Given the description of an element on the screen output the (x, y) to click on. 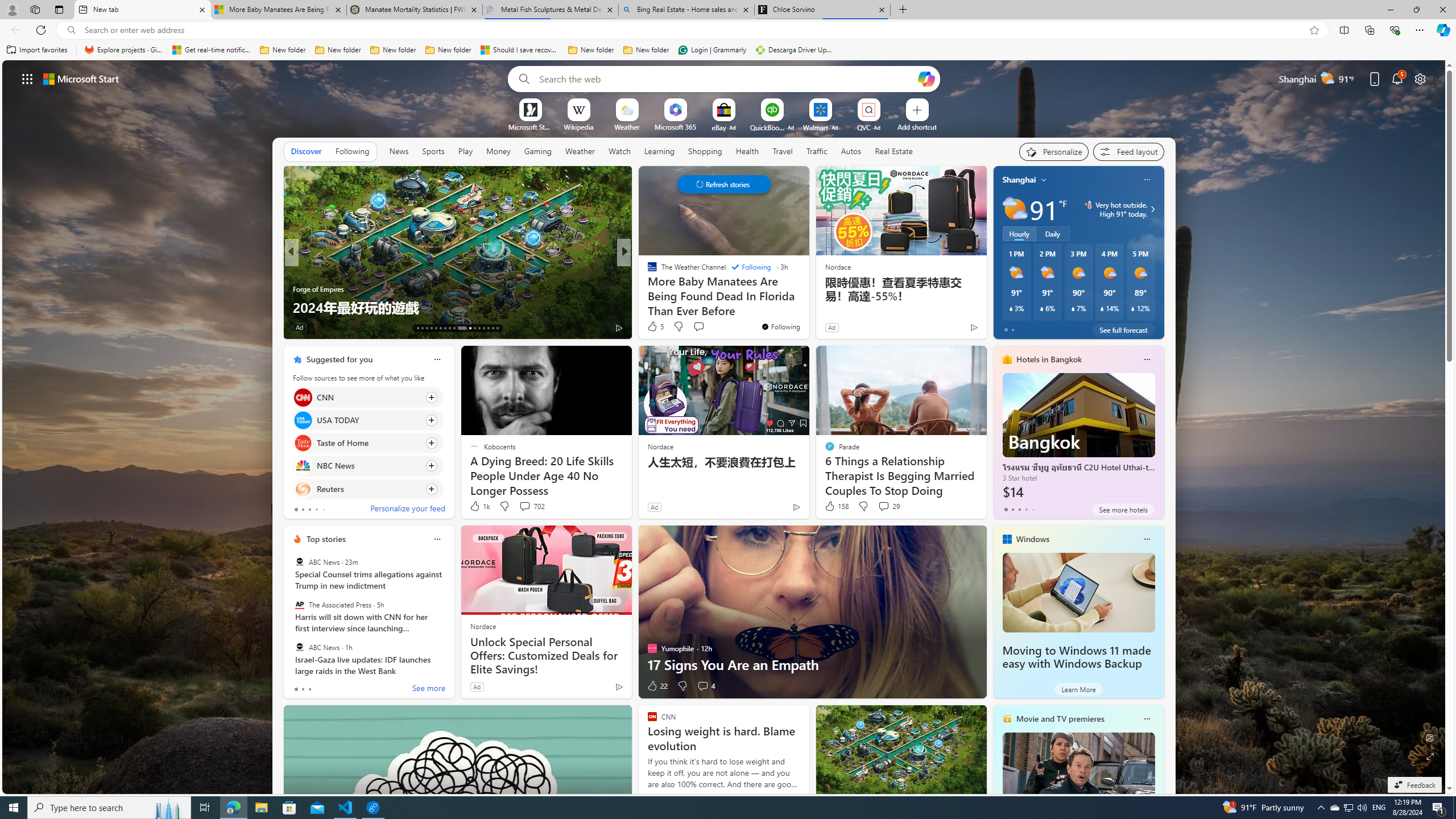
AutomationID: tab-25 (478, 328)
Moving to Windows 11 made easy with Windows Backup (1076, 657)
See more (795, 359)
Money (498, 151)
To get missing image descriptions, open the context menu. (529, 109)
AutomationID: tab-14 (422, 328)
AutomationID: tab-24 (474, 328)
22 Like (657, 685)
NBC News (302, 466)
AutomationID: tab-17 (435, 328)
Partly sunny (1014, 208)
